Given the description of an element on the screen output the (x, y) to click on. 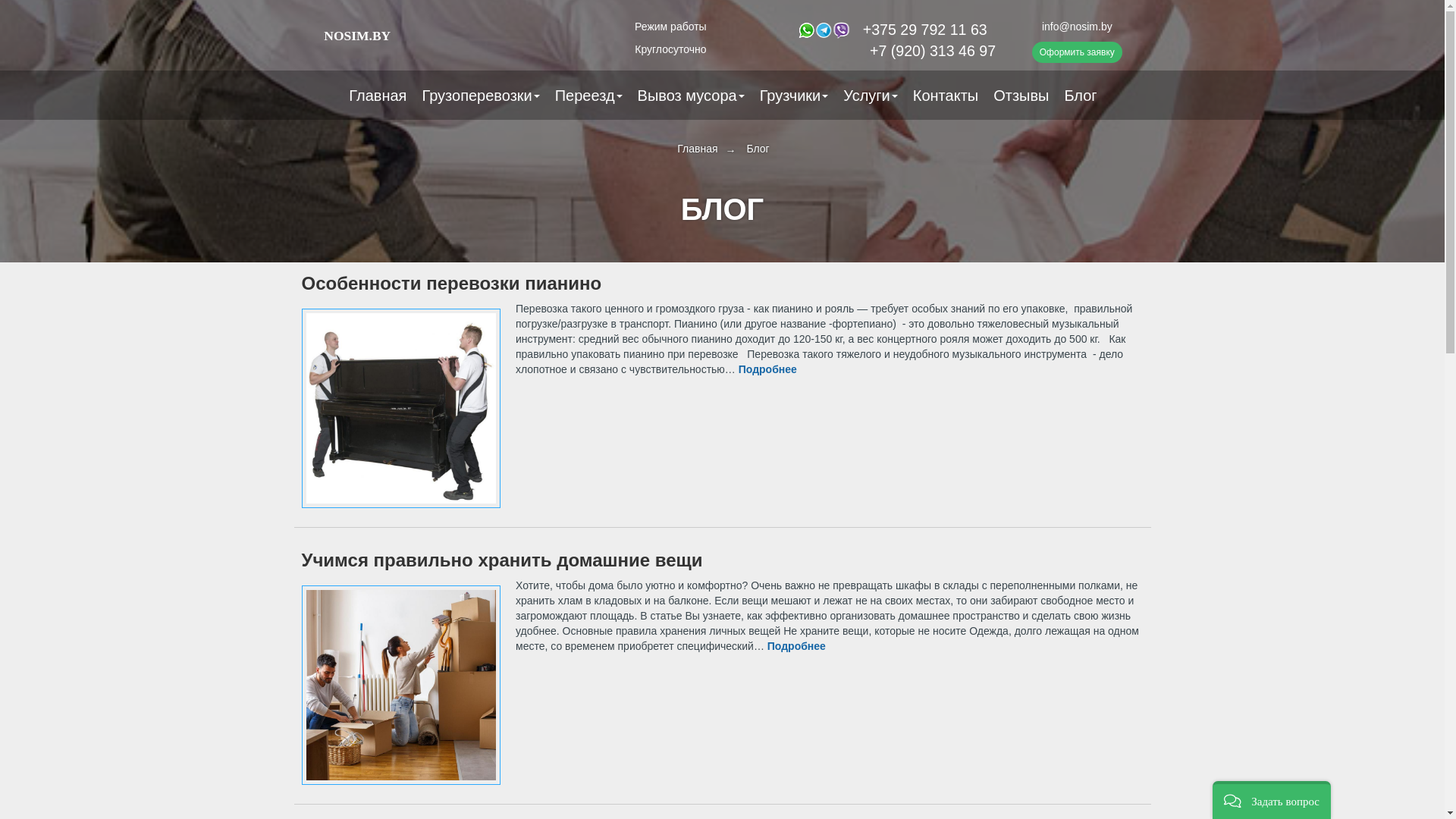
info@nosim.by Element type: text (1076, 26)
+375 29 792 11 63 Element type: text (924, 29)
+7 (920) 313 46 97 Element type: text (886, 50)
NOSIM.BY Element type: text (389, 35)
